Given the description of an element on the screen output the (x, y) to click on. 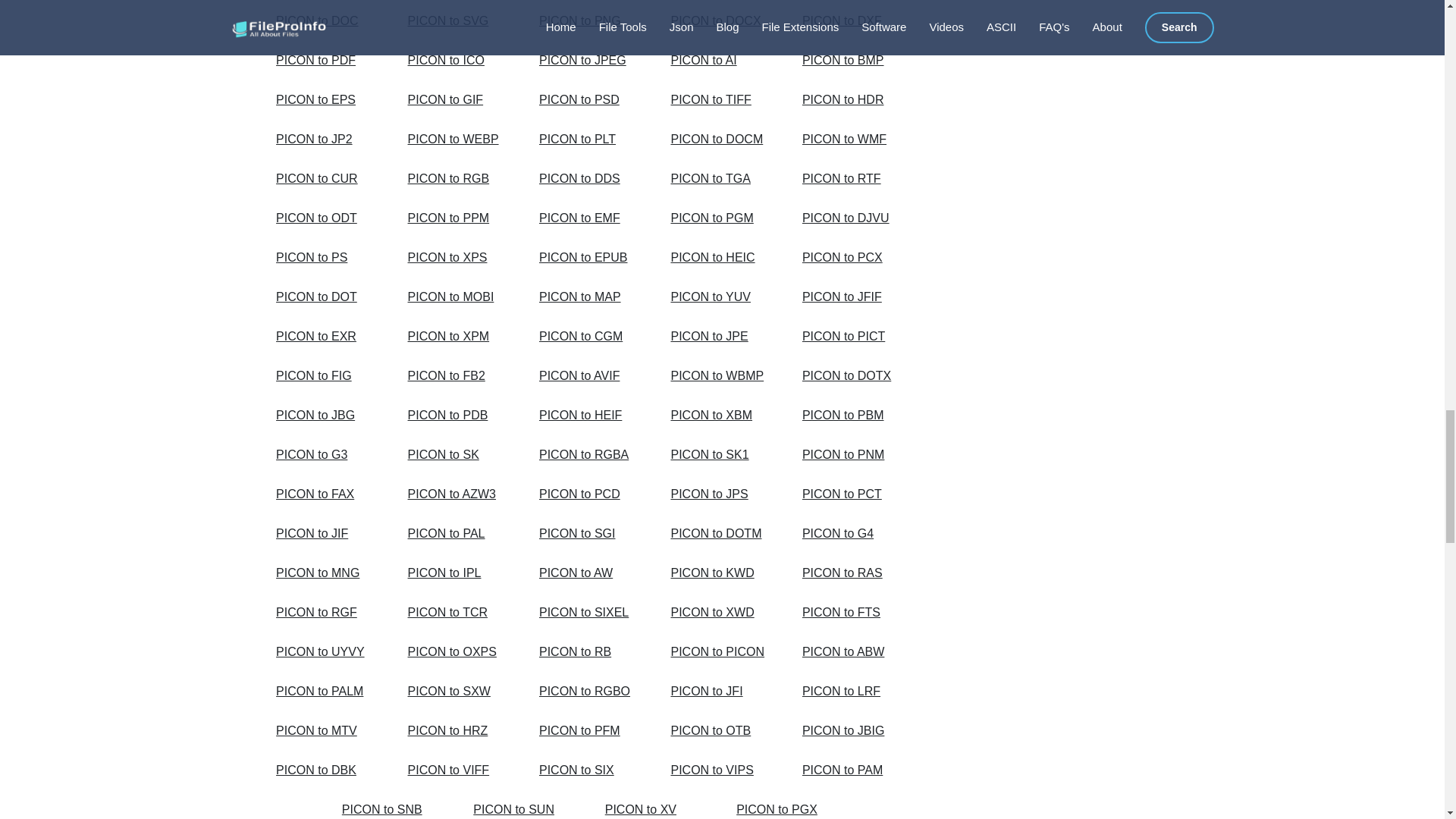
PICON to JPEG (587, 60)
PICON to DOC (325, 21)
PICON to PDF (325, 60)
PICON to ICO (456, 60)
PICON to PNG (587, 21)
PICON to SVG (456, 21)
PICON to DOCX (719, 21)
PICON to DXF (851, 21)
